Given the description of an element on the screen output the (x, y) to click on. 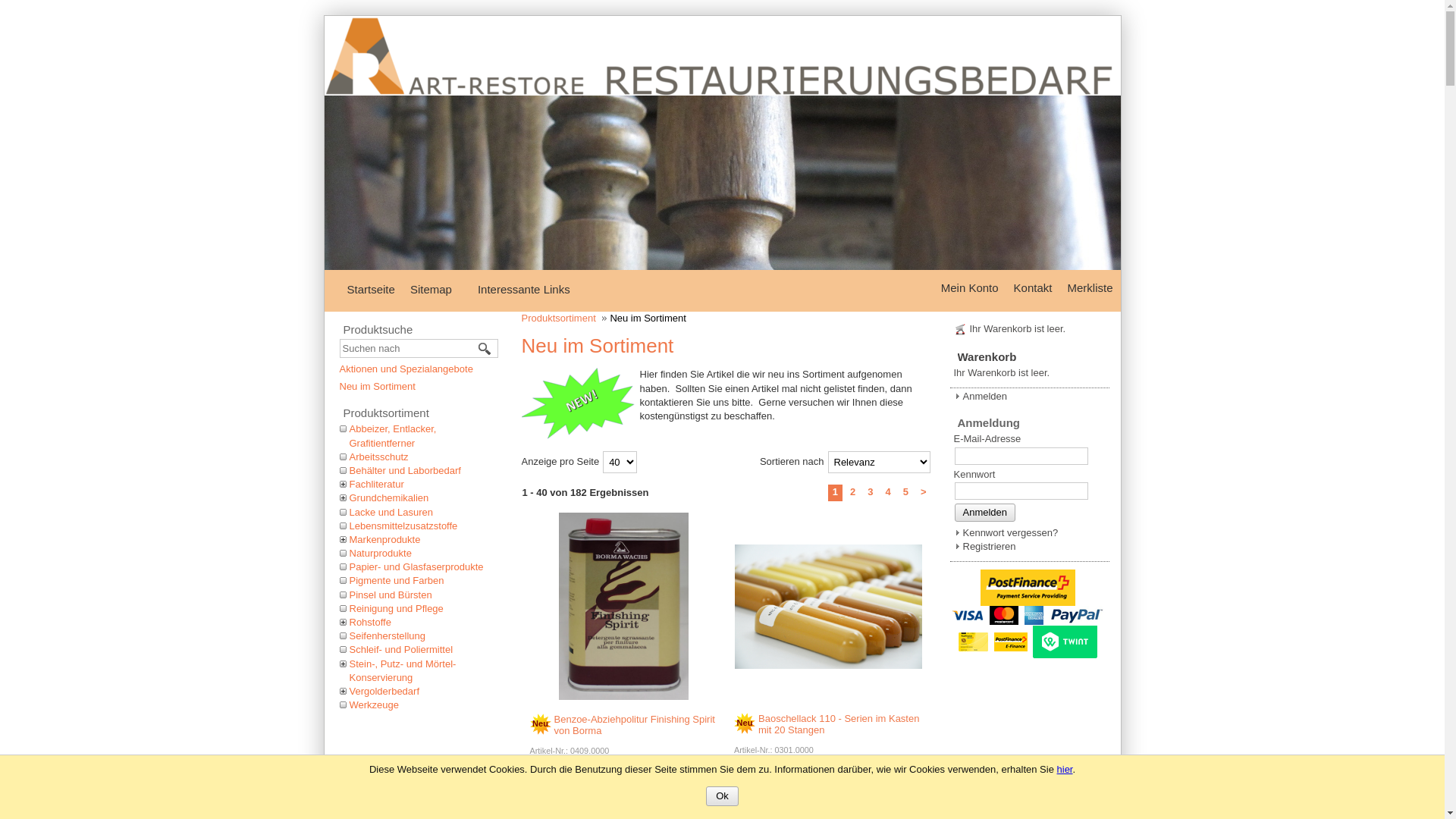
Anmelden Element type: text (980, 395)
Rohstoffe Element type: text (370, 621)
Vergolderbedarf Element type: text (384, 690)
Reinigung und Pflege Element type: text (396, 608)
Anmelden Element type: text (984, 512)
Interessante Links Element type: text (527, 288)
Schleif- und Poliermittel Element type: text (401, 649)
Lacke und Lasuren Element type: text (391, 511)
Kennwort vergessen? Element type: text (1005, 532)
Arbeitsschutz Element type: text (378, 456)
Aktionen und Spezialangebote Element type: text (406, 368)
3 Element type: text (869, 491)
Benzoe-Abziehpolitur Finishing Spirit von Borma Element type: text (633, 724)
Registrieren Element type: text (984, 546)
Ok Element type: text (722, 796)
Zum Produkt Element type: hover (828, 606)
Baoschellack 110 - Serien im Kasten mit 20 Stangen Element type: text (838, 723)
Zum Produkt Element type: hover (623, 605)
Neu im Sortiment Element type: hover (578, 404)
4 Element type: text (887, 491)
Werkzeuge Element type: text (374, 704)
Merkliste Element type: text (1093, 286)
Startseite Element type: text (374, 288)
> Element type: text (923, 491)
Fachliteratur Element type: text (376, 483)
Naturprodukte Element type: text (380, 552)
Markenprodukte Element type: text (384, 539)
Sitemap Element type: text (434, 288)
Seifenherstellung Element type: text (387, 635)
Neu im Sortiment Element type: text (377, 386)
Lebensmittelzusatzstoffe Element type: text (403, 525)
PostFinance Element type: hover (1027, 587)
2 Element type: text (852, 491)
Grundchemikalien Element type: text (388, 497)
Abbeizer, Entlacker, Grafitientferner Element type: text (392, 435)
Suche starten Element type: hover (484, 348)
Pigmente und Farben Element type: text (396, 580)
Mein Konto Element type: text (973, 286)
Produktsortiment Element type: text (564, 317)
Produktsortiment Element type: text (418, 411)
Papier- und Glasfaserprodukte Element type: text (416, 566)
5 Element type: text (905, 491)
Kontakt Element type: text (1036, 286)
hier Element type: text (1065, 769)
